Given the description of an element on the screen output the (x, y) to click on. 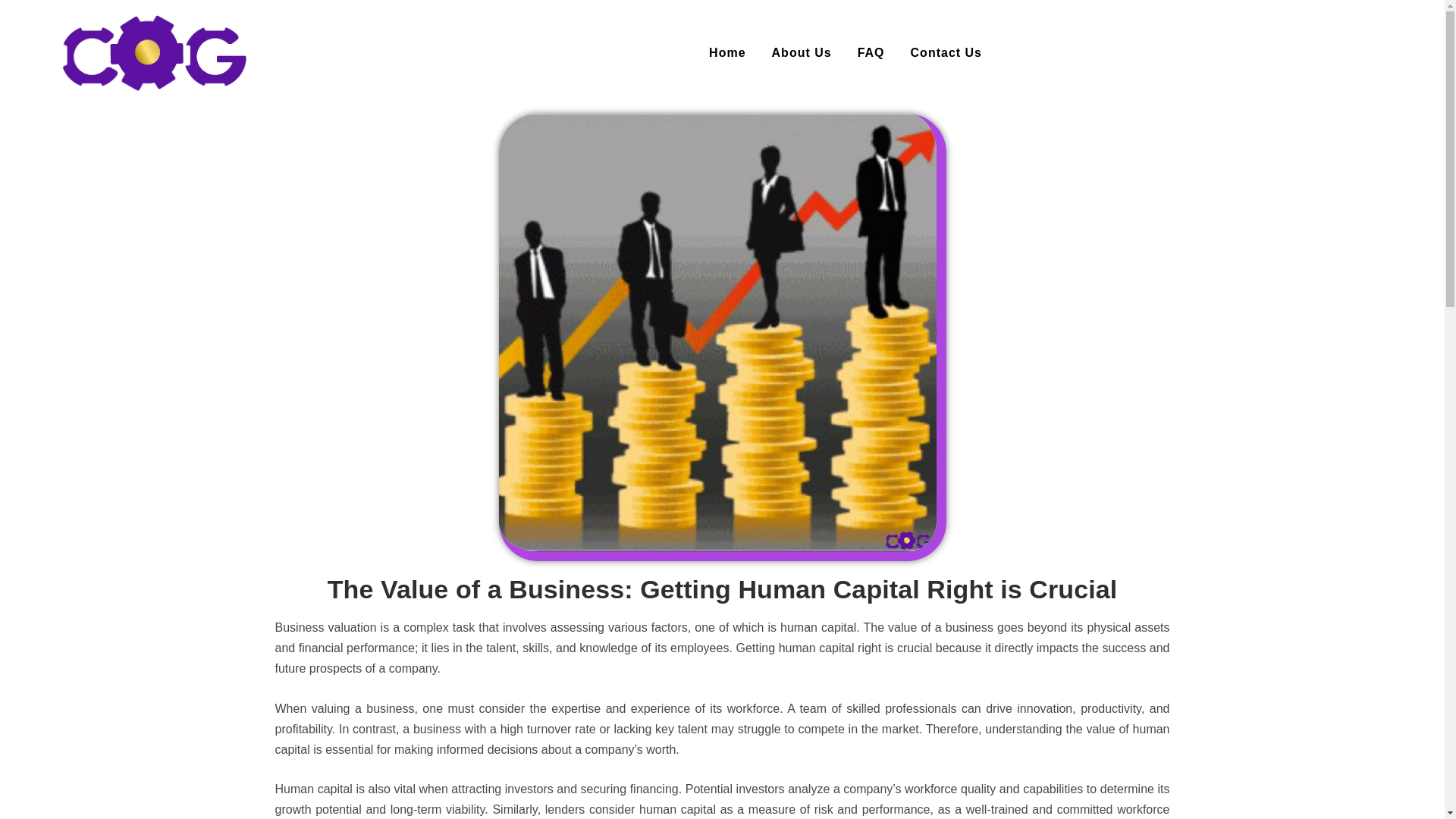
Core OpsGenie (153, 52)
